Given the description of an element on the screen output the (x, y) to click on. 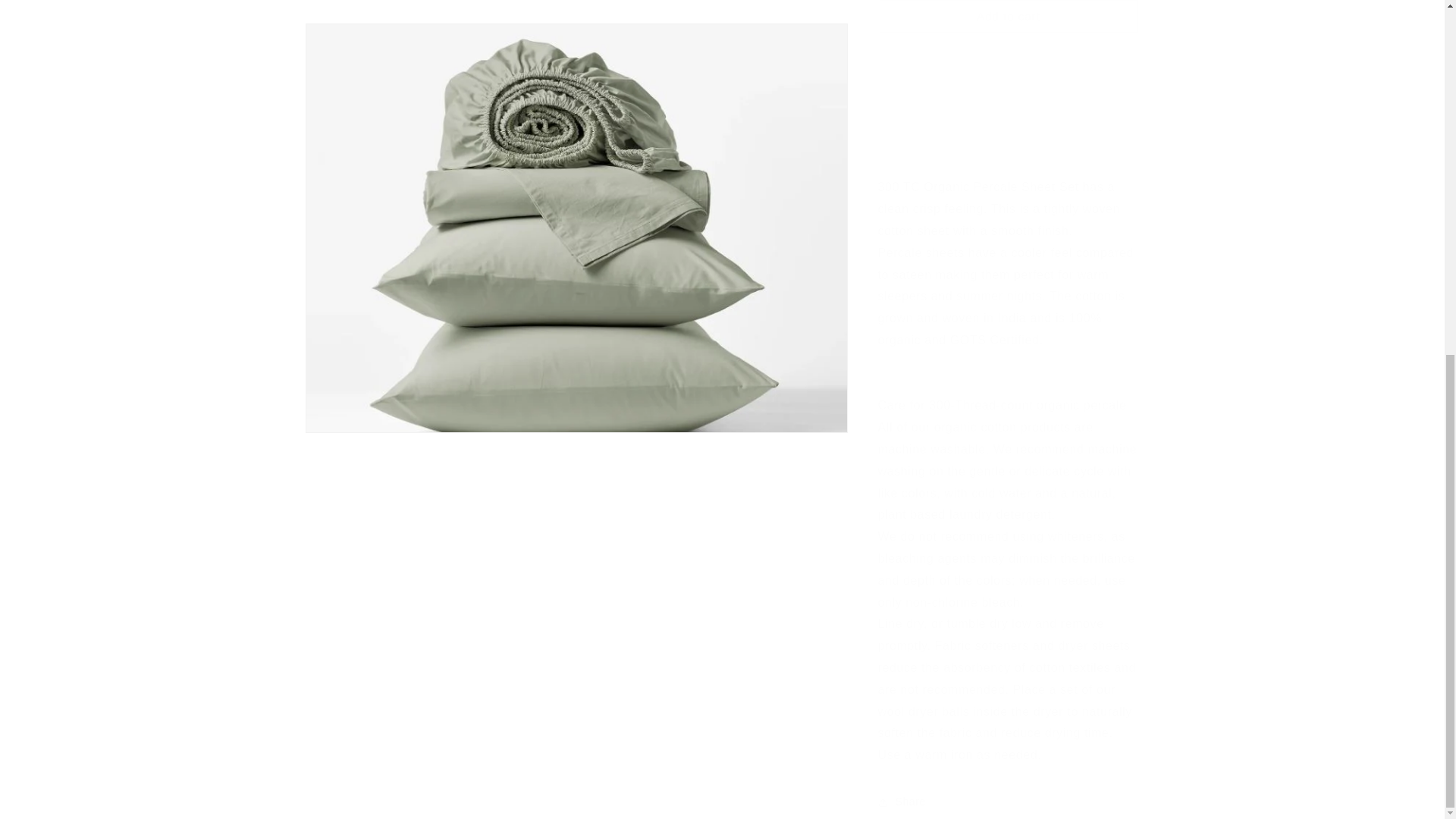
Add to cart (1008, 11)
